Given the description of an element on the screen output the (x, y) to click on. 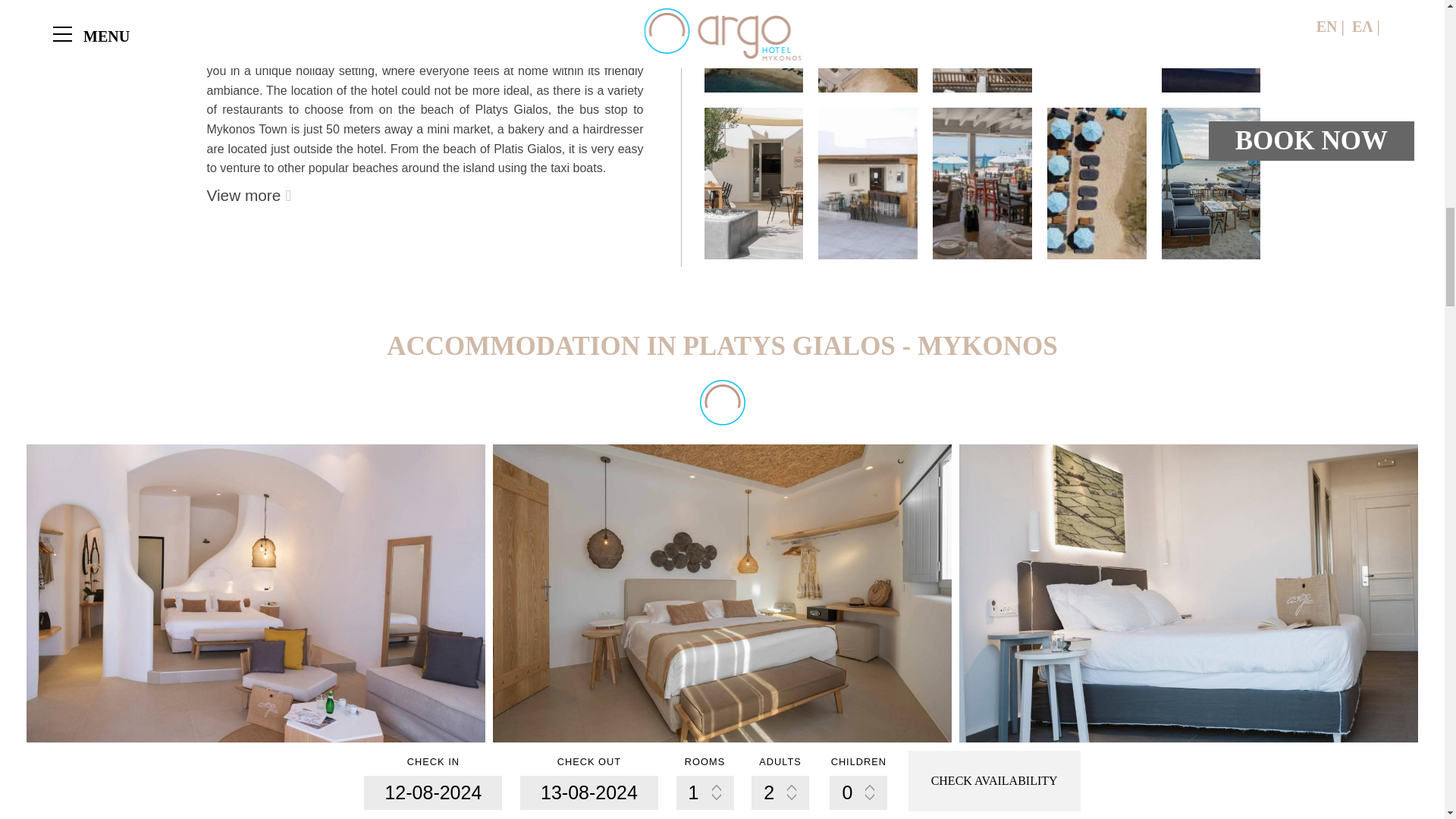
View more (247, 194)
Argo Hotel (753, 46)
Argo Hotel (1210, 46)
SUPERIOR DOUBLE ROOM (155, 762)
Argo Hotel (867, 46)
BOOK NOW (440, 813)
Argo Hotel (982, 46)
